Given the description of an element on the screen output the (x, y) to click on. 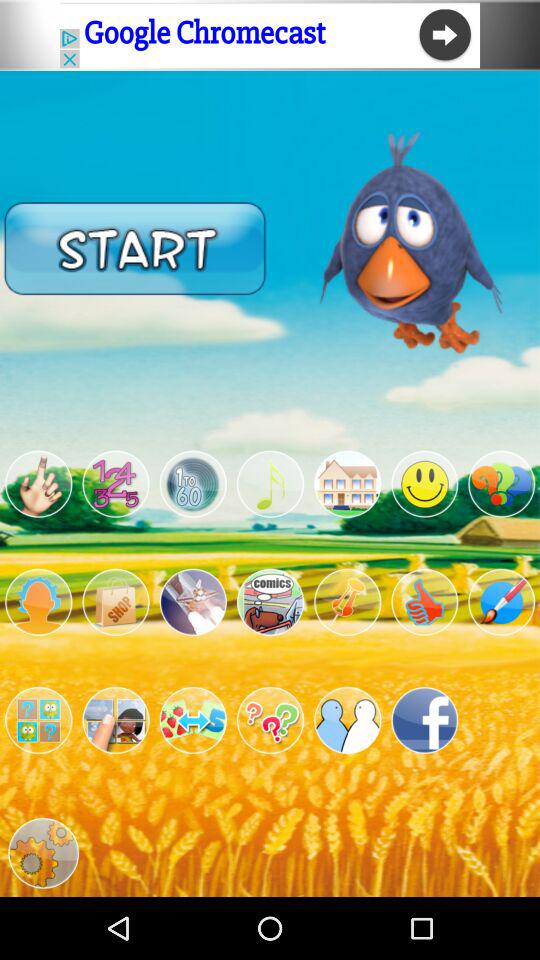
settings (38, 720)
